Given the description of an element on the screen output the (x, y) to click on. 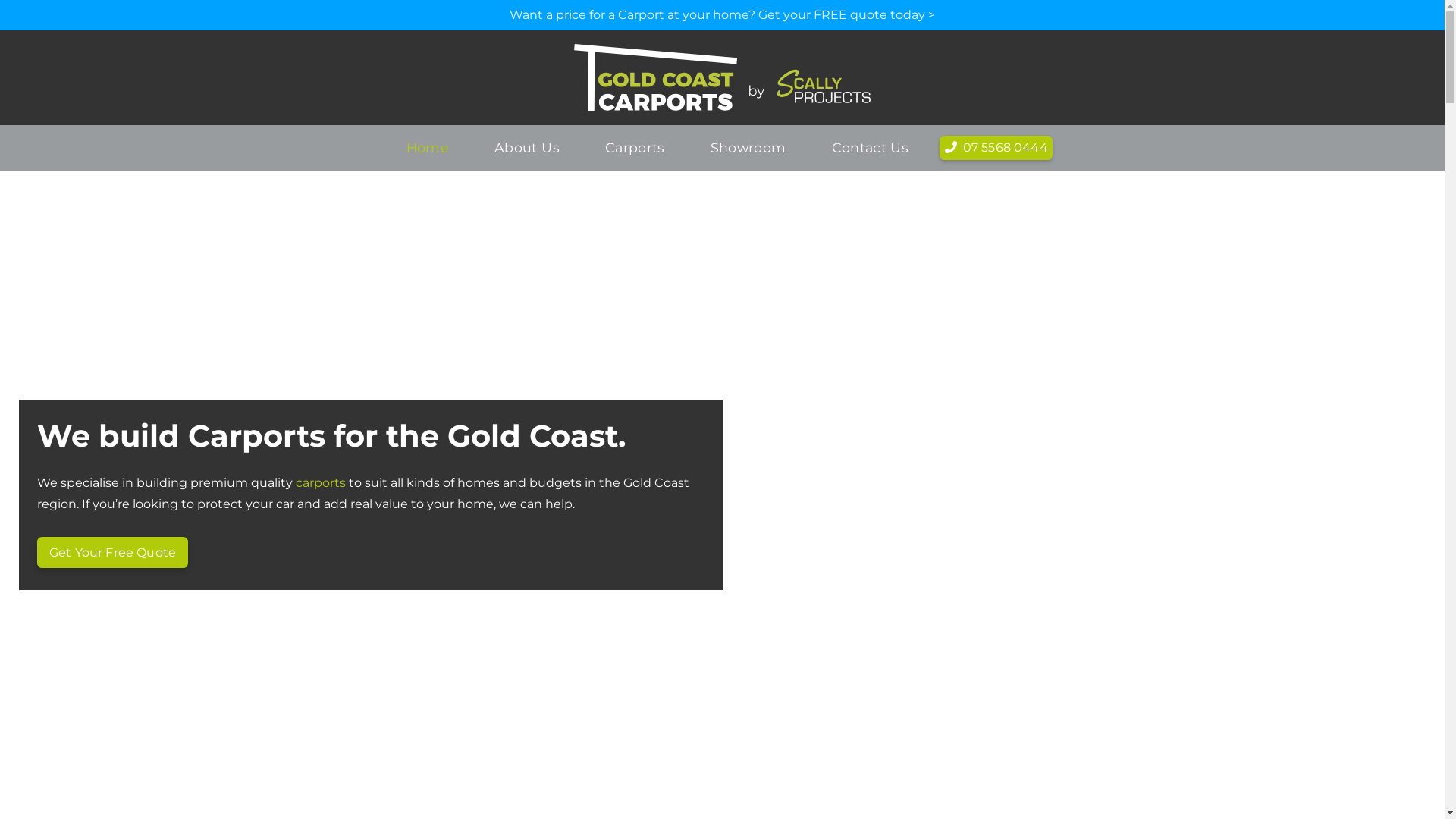
Carports Element type: text (634, 147)
Contact Us Element type: text (870, 147)
About Us Element type: text (526, 147)
Showroom Element type: text (748, 147)
Get Your Free Quote Element type: text (112, 552)
07 5568 0444 Element type: text (995, 147)
carports Element type: text (320, 482)
Home Element type: text (427, 147)
